Given the description of an element on the screen output the (x, y) to click on. 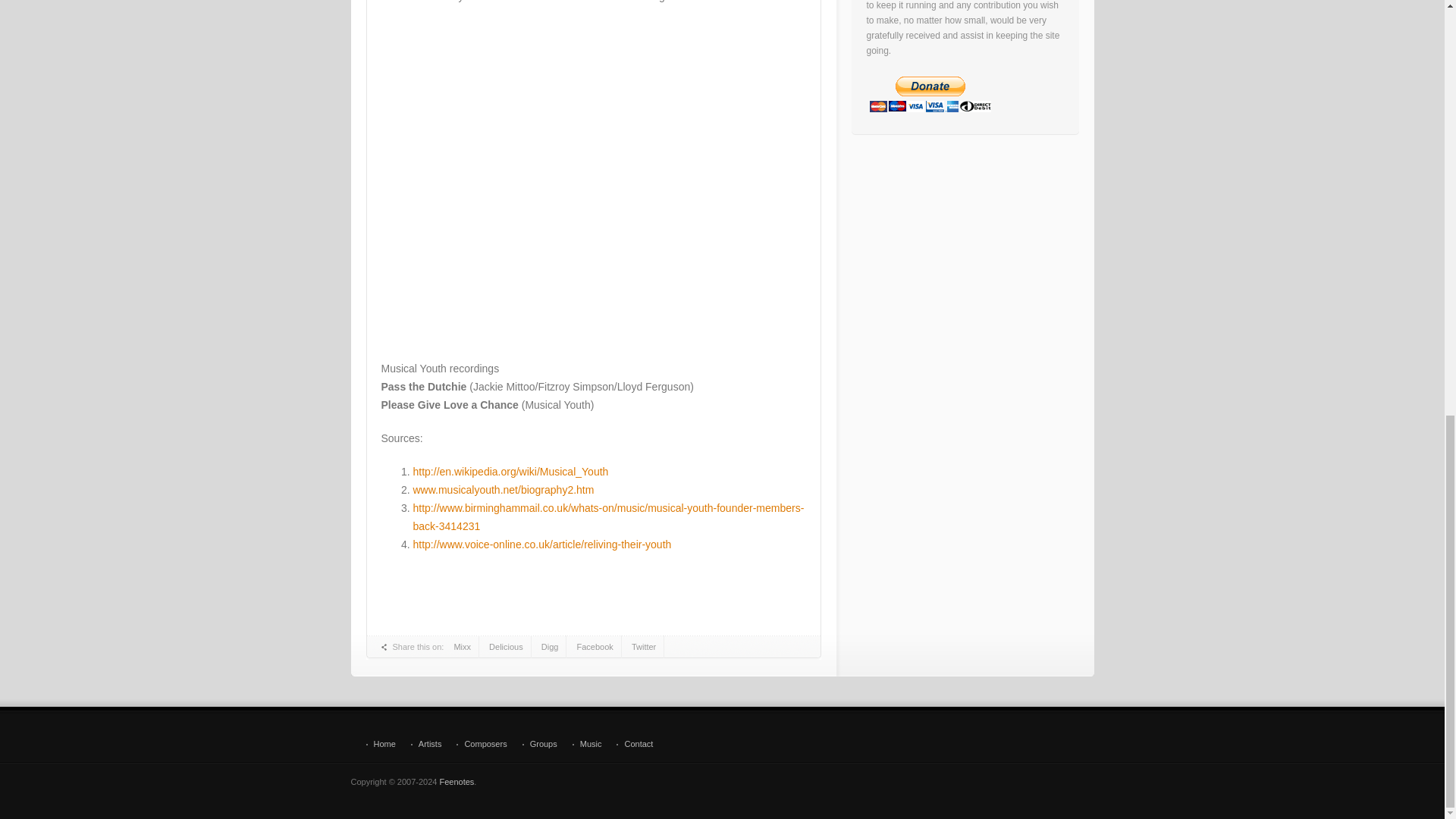
Delicious (506, 646)
Feenotes (456, 781)
Digg (550, 646)
Artists (426, 744)
Twitter (643, 646)
Mixx (462, 646)
Share this entry on Facebook (595, 646)
Share this entry on Twitter (643, 646)
Home (379, 744)
Feenotes (456, 781)
Digg this entry (550, 646)
Contact (633, 744)
Groups (539, 744)
Music (587, 744)
